Given the description of an element on the screen output the (x, y) to click on. 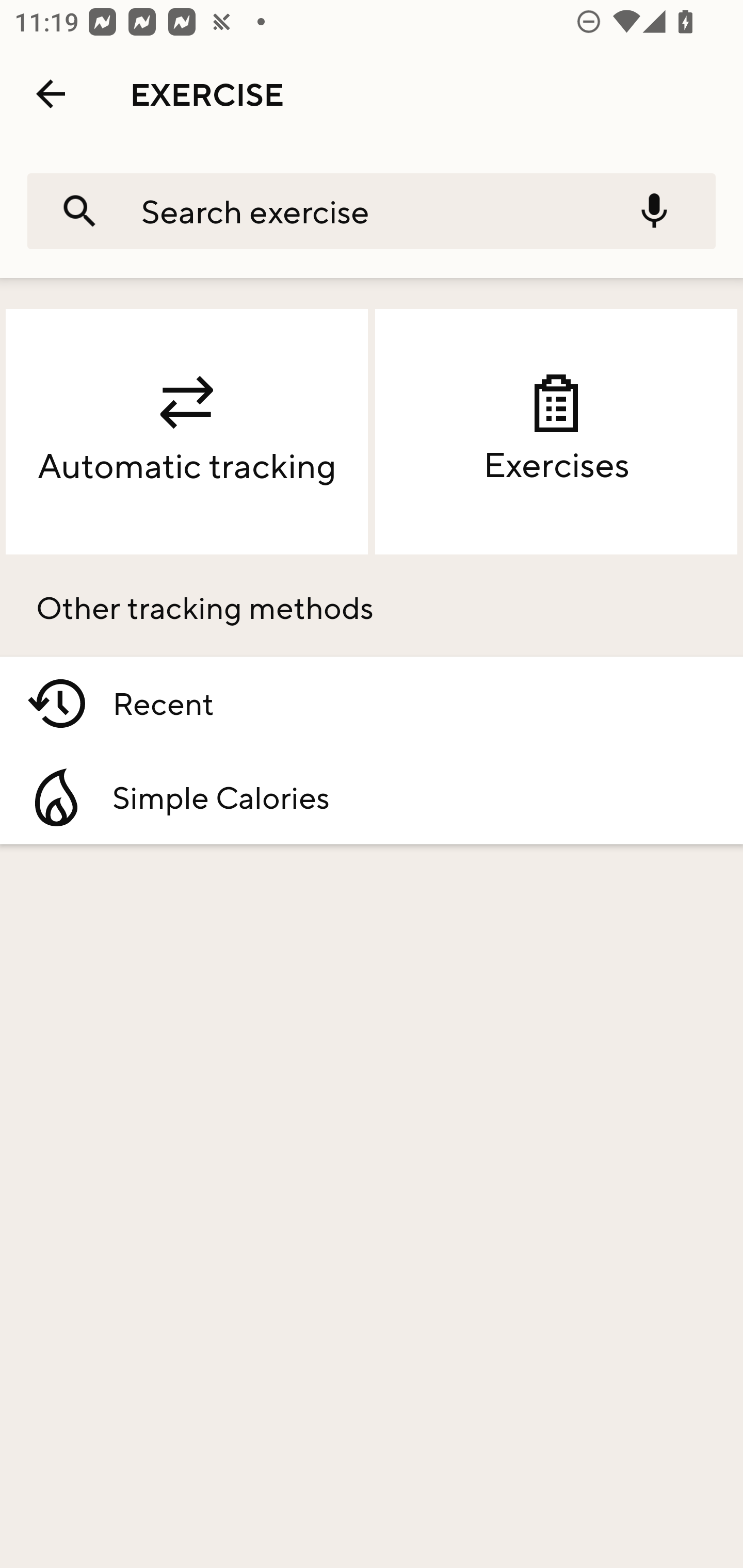
Navigate up (50, 93)
Search exercise (362, 210)
Automatic tracking (186, 431)
Exercises (556, 431)
Recent (371, 703)
Simple Calories (371, 797)
